Given the description of an element on the screen output the (x, y) to click on. 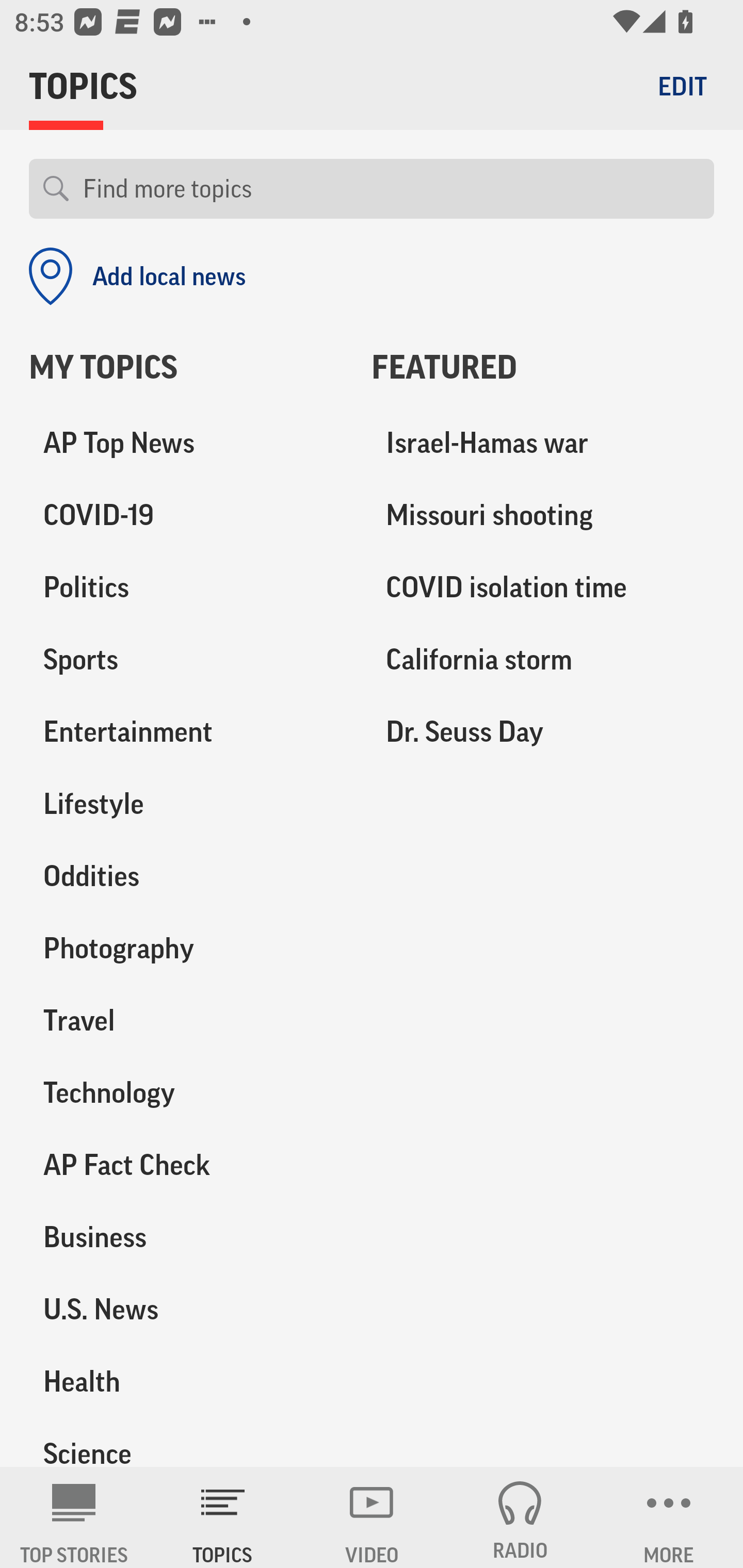
EDIT (682, 86)
Find more topics (391, 188)
Add local news (137, 276)
AP Top News (185, 443)
Israel-Hamas war (542, 443)
COVID-19 (185, 515)
Missouri shooting (542, 515)
Politics (185, 587)
COVID isolation time (542, 587)
Sports (185, 660)
California storm (542, 660)
Entertainment (185, 732)
Dr. Seuss Day (542, 732)
Lifestyle (185, 804)
Oddities (185, 876)
Photography (185, 948)
Travel (185, 1020)
Technology (185, 1092)
AP Fact Check (185, 1164)
Business (185, 1237)
U.S. News (185, 1309)
Health (185, 1381)
Science (185, 1442)
AP News TOP STORIES (74, 1517)
TOPICS (222, 1517)
VIDEO (371, 1517)
RADIO (519, 1517)
MORE (668, 1517)
